Given the description of an element on the screen output the (x, y) to click on. 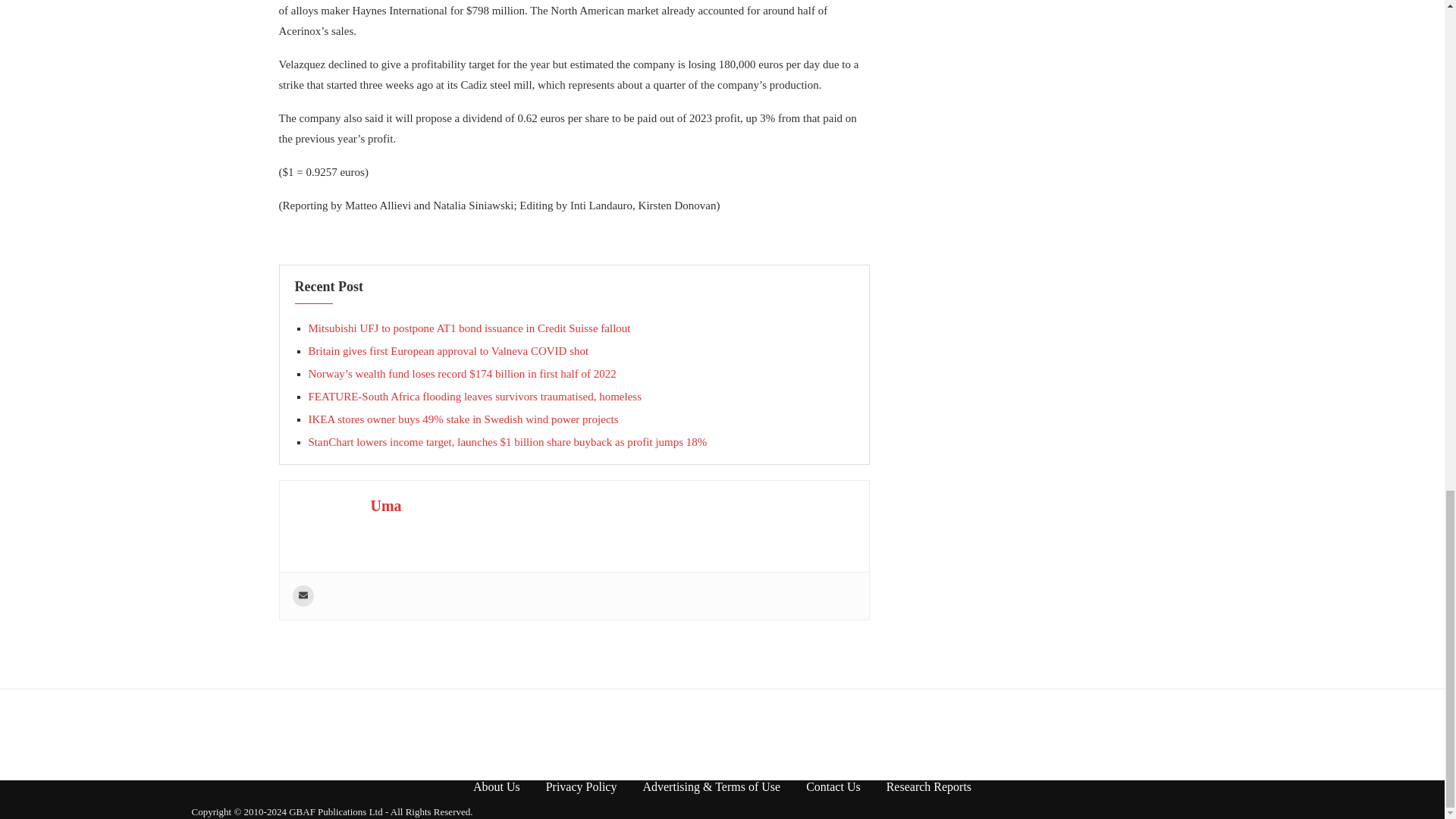
User email (303, 595)
